Given the description of an element on the screen output the (x, y) to click on. 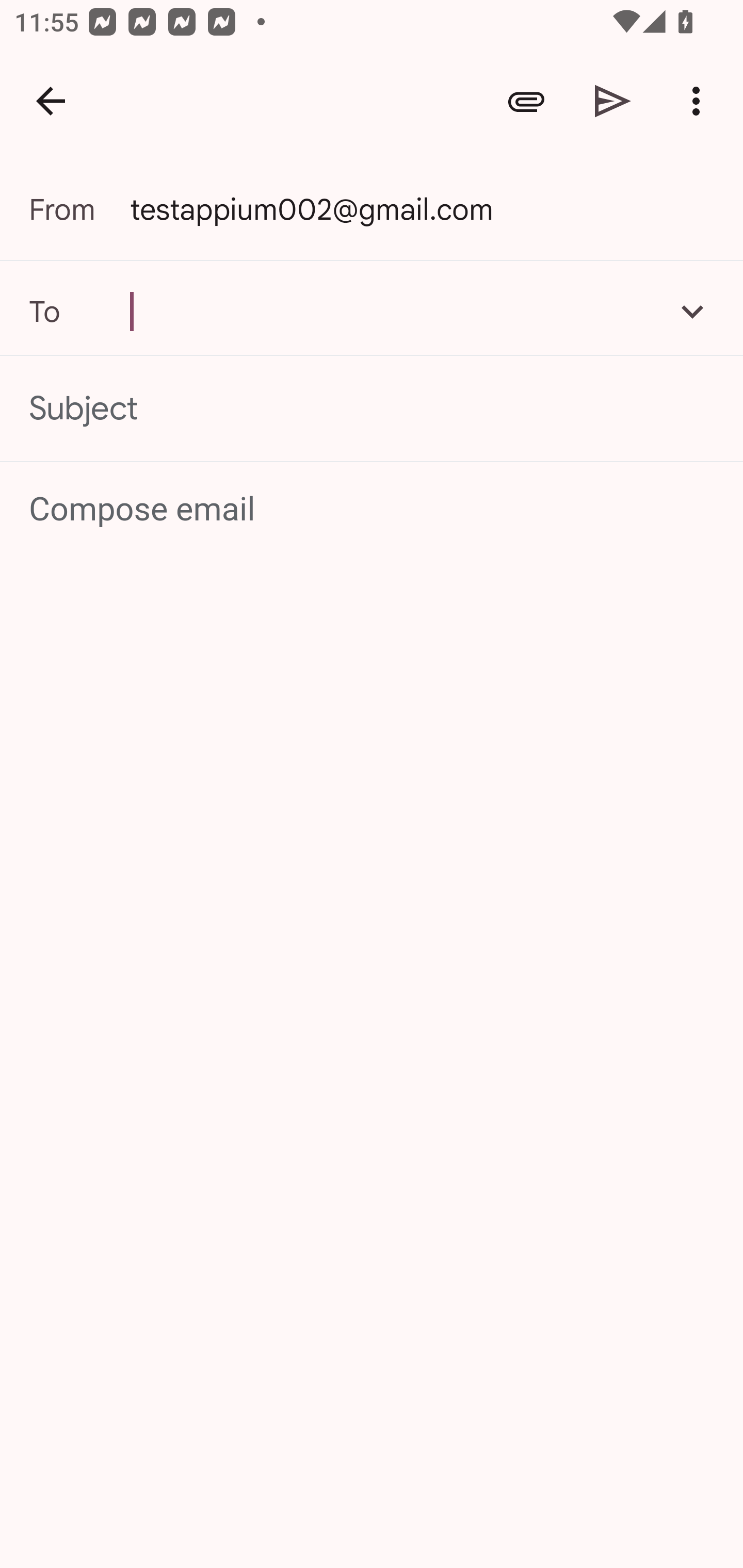
Navigate up (50, 101)
Attach file (525, 101)
Send (612, 101)
More options (699, 101)
From (79, 209)
Add Cc/Bcc (692, 311)
Subject (371, 407)
